Given the description of an element on the screen output the (x, y) to click on. 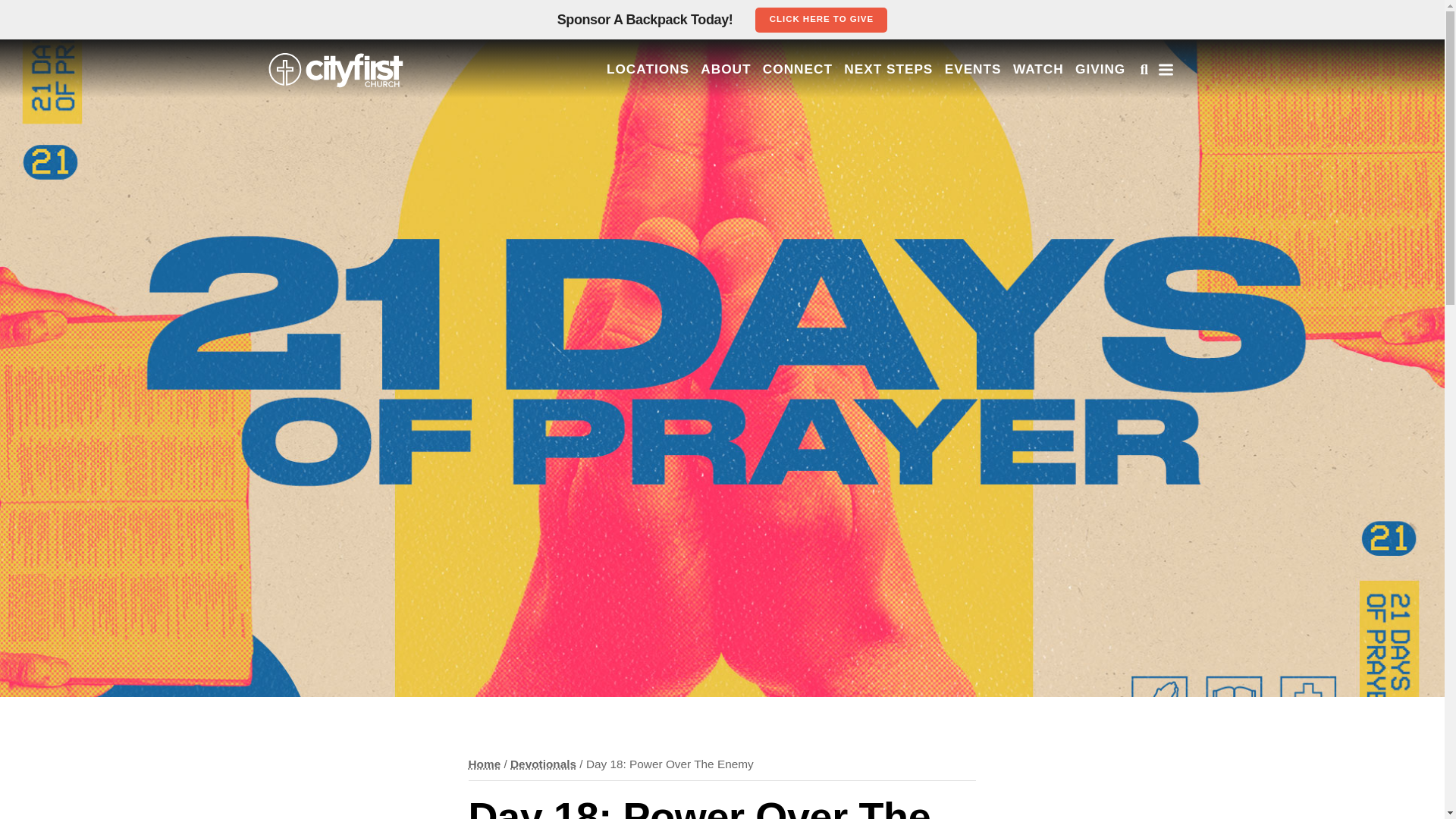
MESSAGESView messages by weeks. (717, 402)
CONFERENCES (717, 167)
WATCH (717, 360)
CITY FIRST CHURCH TVView local broadcast times. (717, 534)
SERIESView messages by series. (717, 446)
CLICK HERE TO GIVE (820, 19)
EVENTS (717, 126)
STORE (717, 576)
GIVE NOWMake a one-time gift or set up recurring giving. (717, 9)
MARRIAGE CONFERENCEInvest in your marriage! (717, 317)
STORIESWatch stories of what God is doing in our church! (717, 489)
LEGACYFind out more about the Legacy vision! (717, 40)
